Given the description of an element on the screen output the (x, y) to click on. 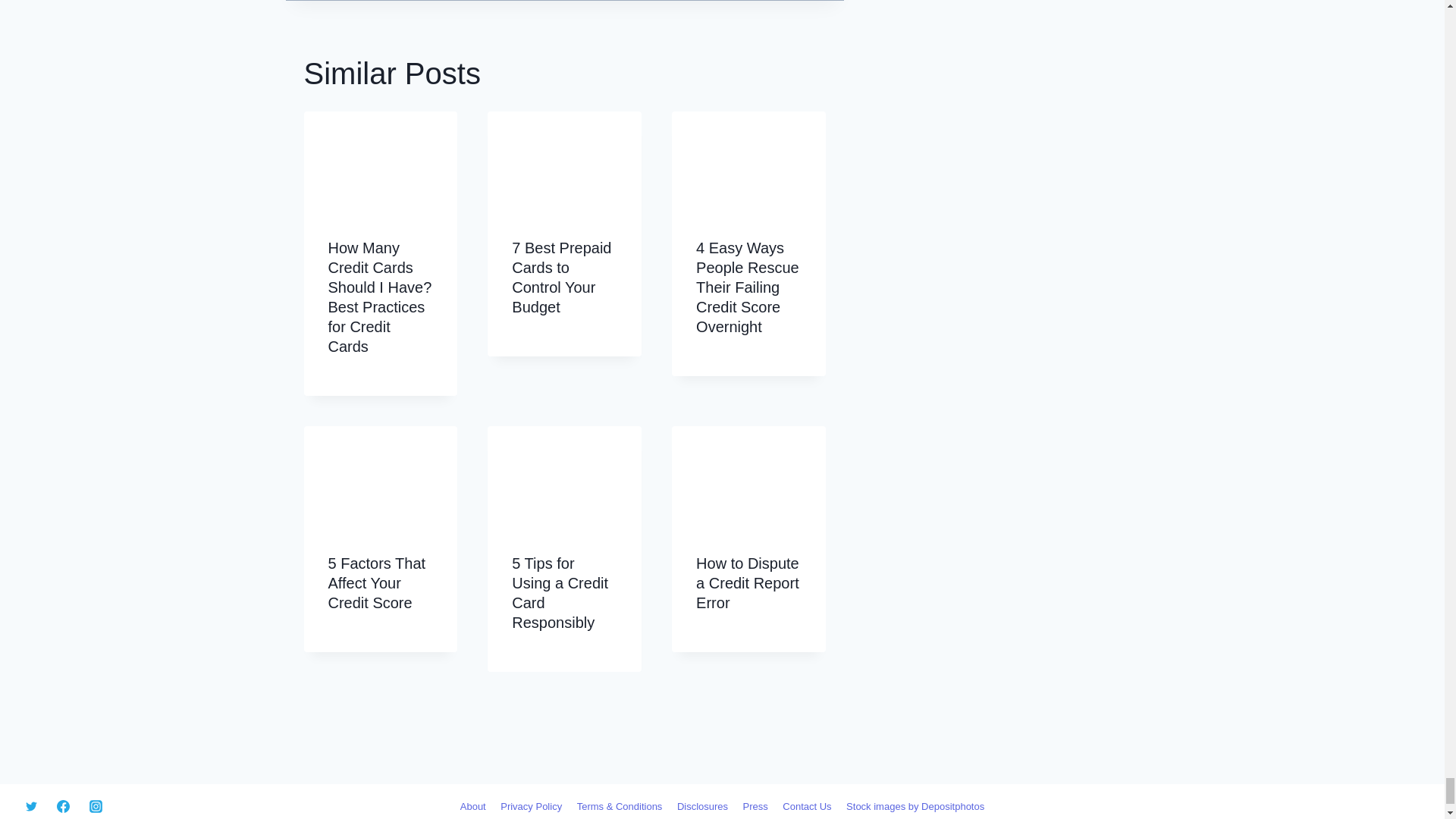
7 Best Prepaid Cards to Control Your Budget (561, 277)
5 Factors That Affect Your Credit Score (376, 582)
